Given the description of an element on the screen output the (x, y) to click on. 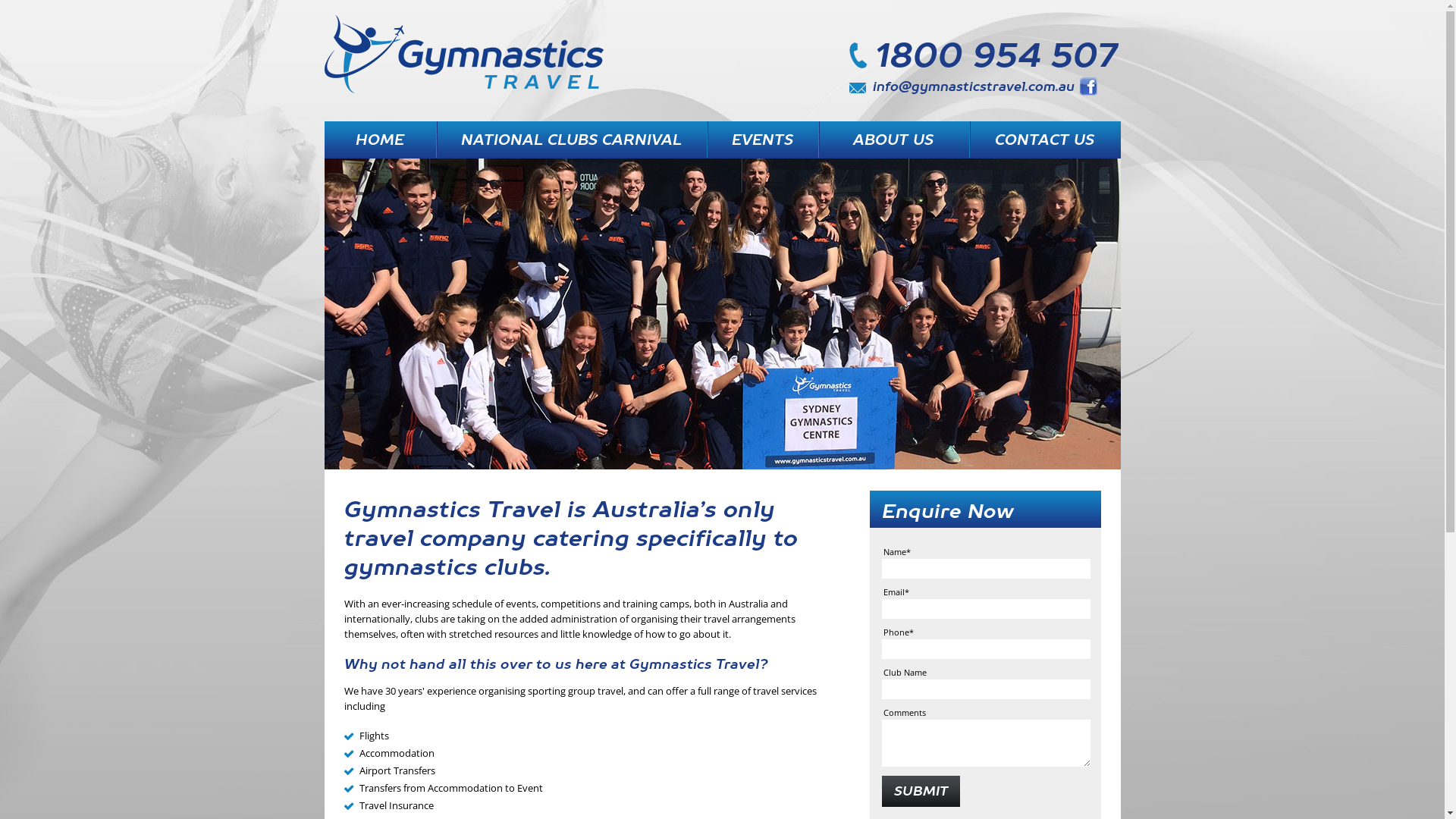
NATIONAL CLUBS CARNIVAL Element type: text (570, 139)
ABOUT US Element type: text (893, 139)
SUBMIT Element type: text (920, 790)
facebook.com/gymnasticstravel Element type: text (1088, 86)
info@gymnasticstravel.com.au Element type: text (961, 86)
CONTACT US Element type: text (1044, 139)
1800 954 507 Element type: text (983, 54)
HOME Element type: text (380, 139)
EVENTS Element type: text (762, 139)
